Given the description of an element on the screen output the (x, y) to click on. 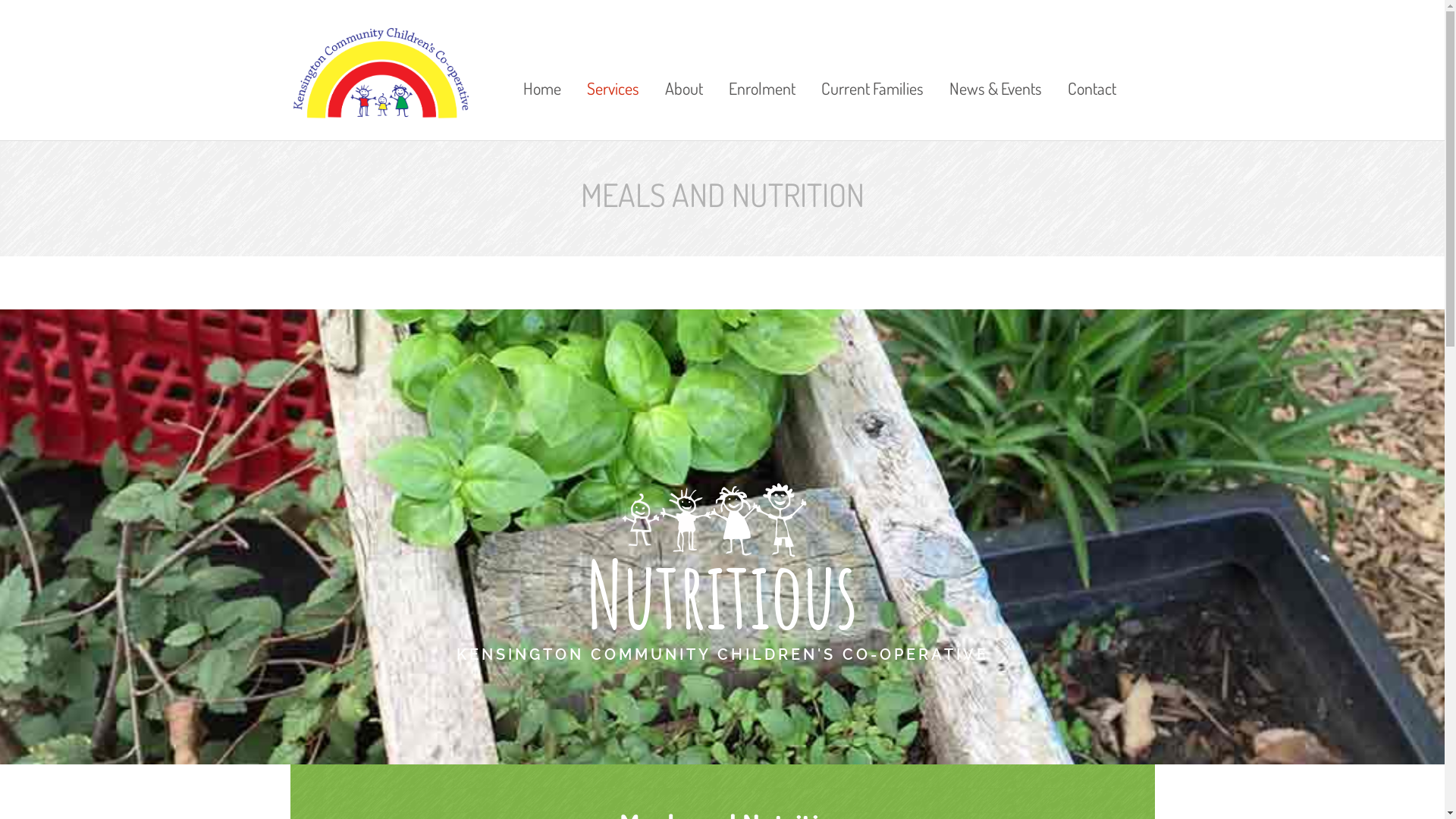
Home Element type: text (541, 66)
Contact Element type: text (1086, 66)
Enrolment Element type: text (761, 66)
Current Families Element type: text (872, 66)
News & Events Element type: text (995, 66)
Services Element type: text (612, 66)
About Element type: text (683, 66)
